Given the description of an element on the screen output the (x, y) to click on. 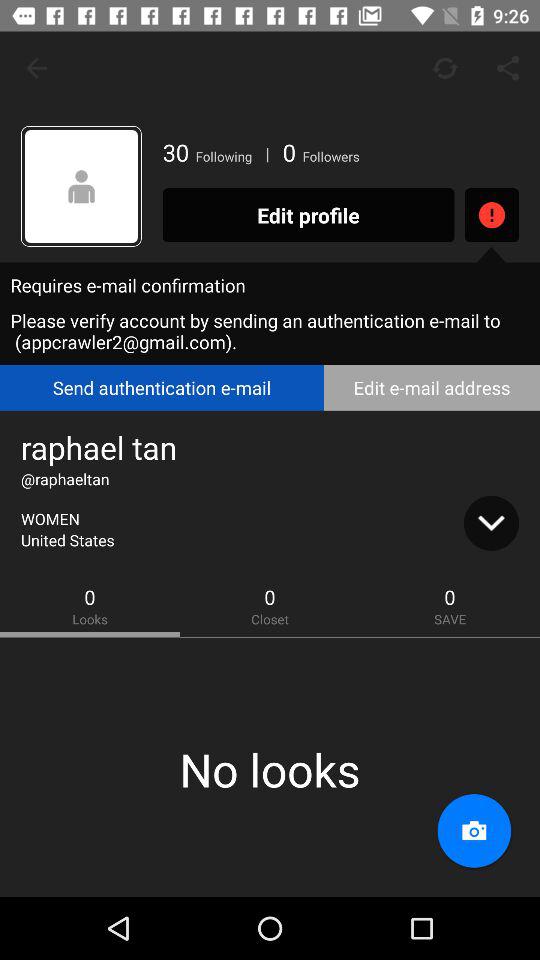
una red intuitiva (81, 186)
